Given the description of an element on the screen output the (x, y) to click on. 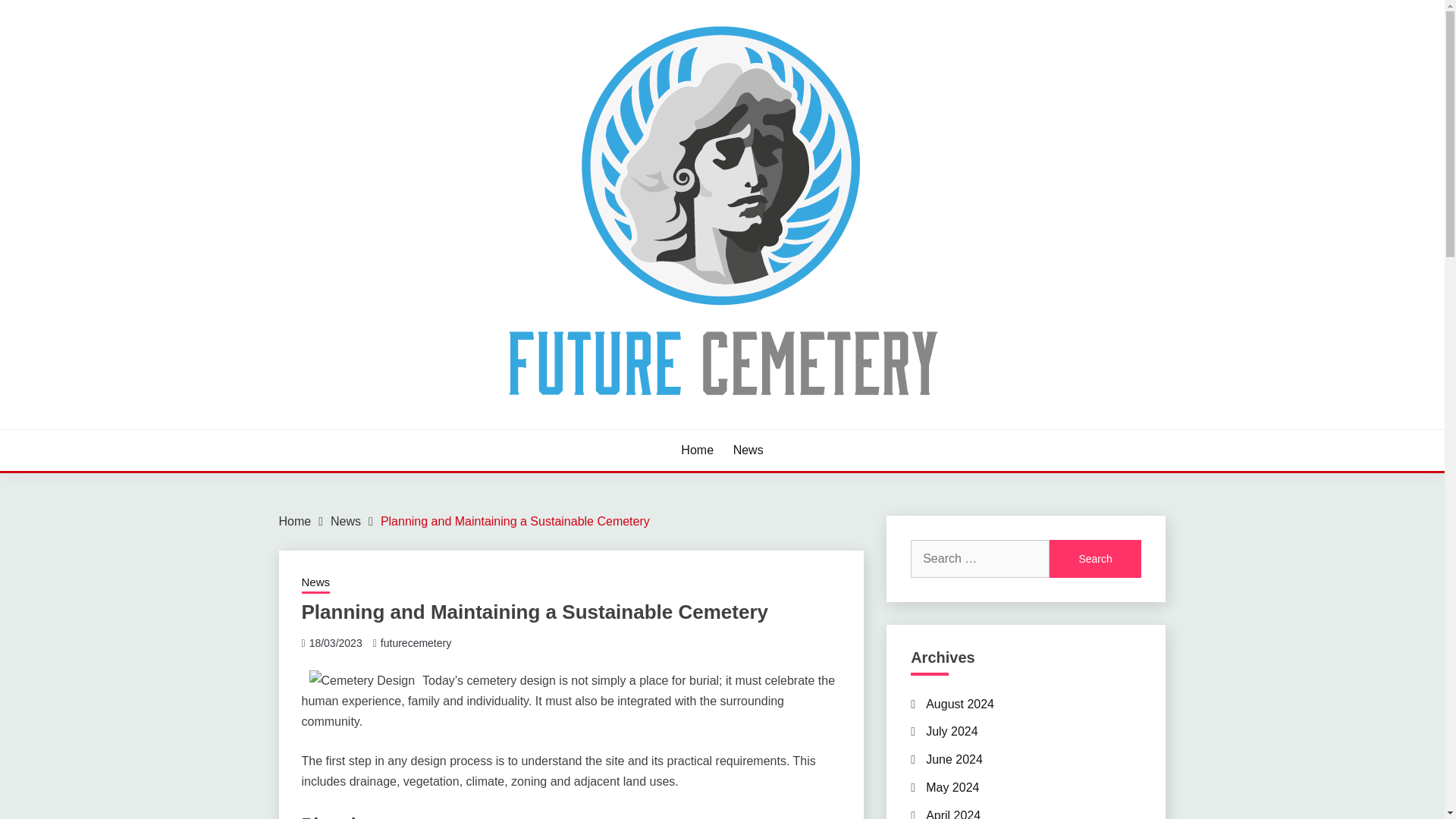
futurecemetery (415, 643)
FUTURE CEMETERY (416, 427)
May 2024 (952, 787)
April 2024 (952, 814)
Search (1095, 558)
Planning and Maintaining a Sustainable Cemetery (514, 521)
Home (295, 521)
July 2024 (952, 730)
Home (697, 450)
June 2024 (954, 758)
